Given the description of an element on the screen output the (x, y) to click on. 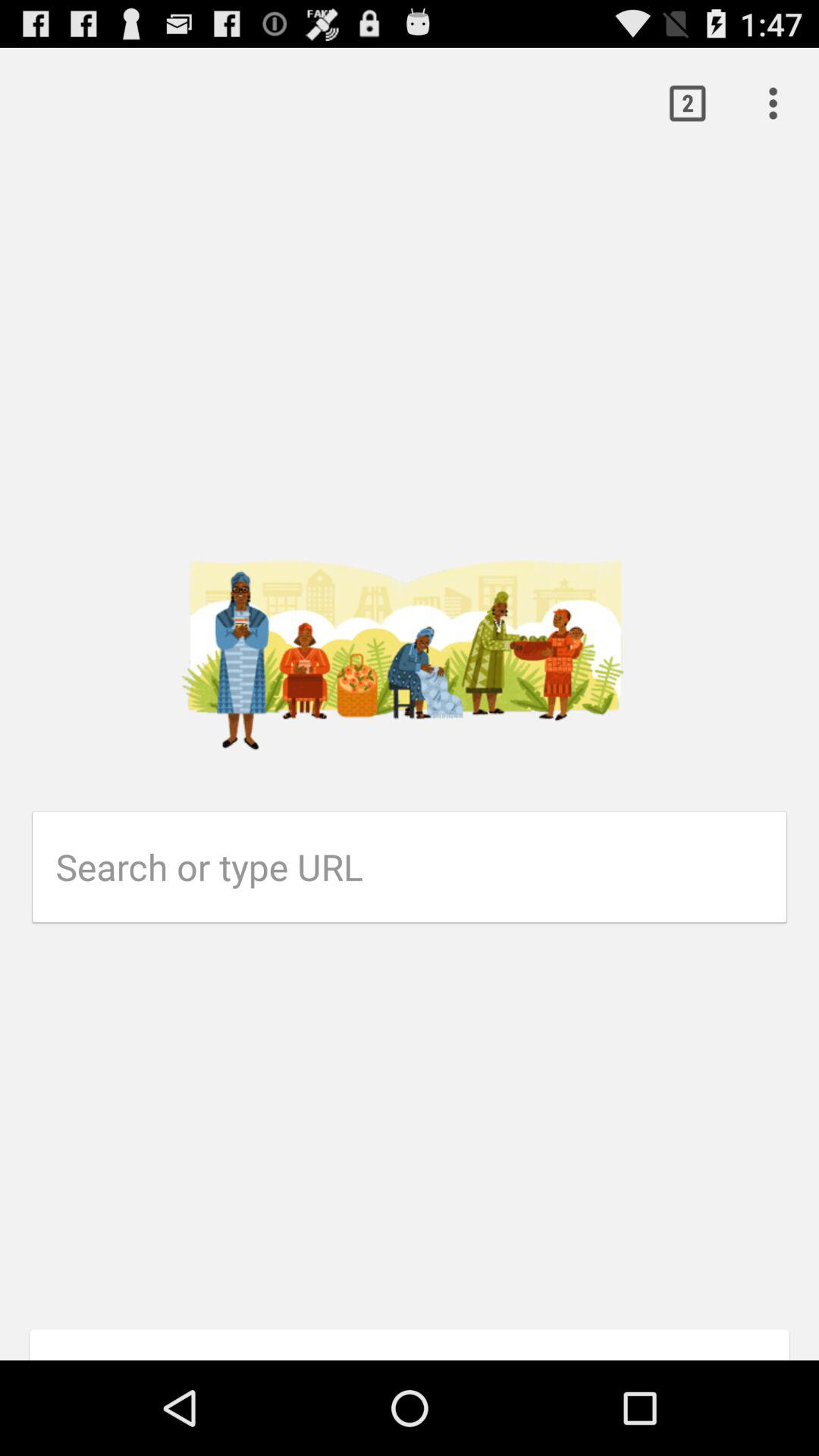
url box (421, 866)
